Given the description of an element on the screen output the (x, y) to click on. 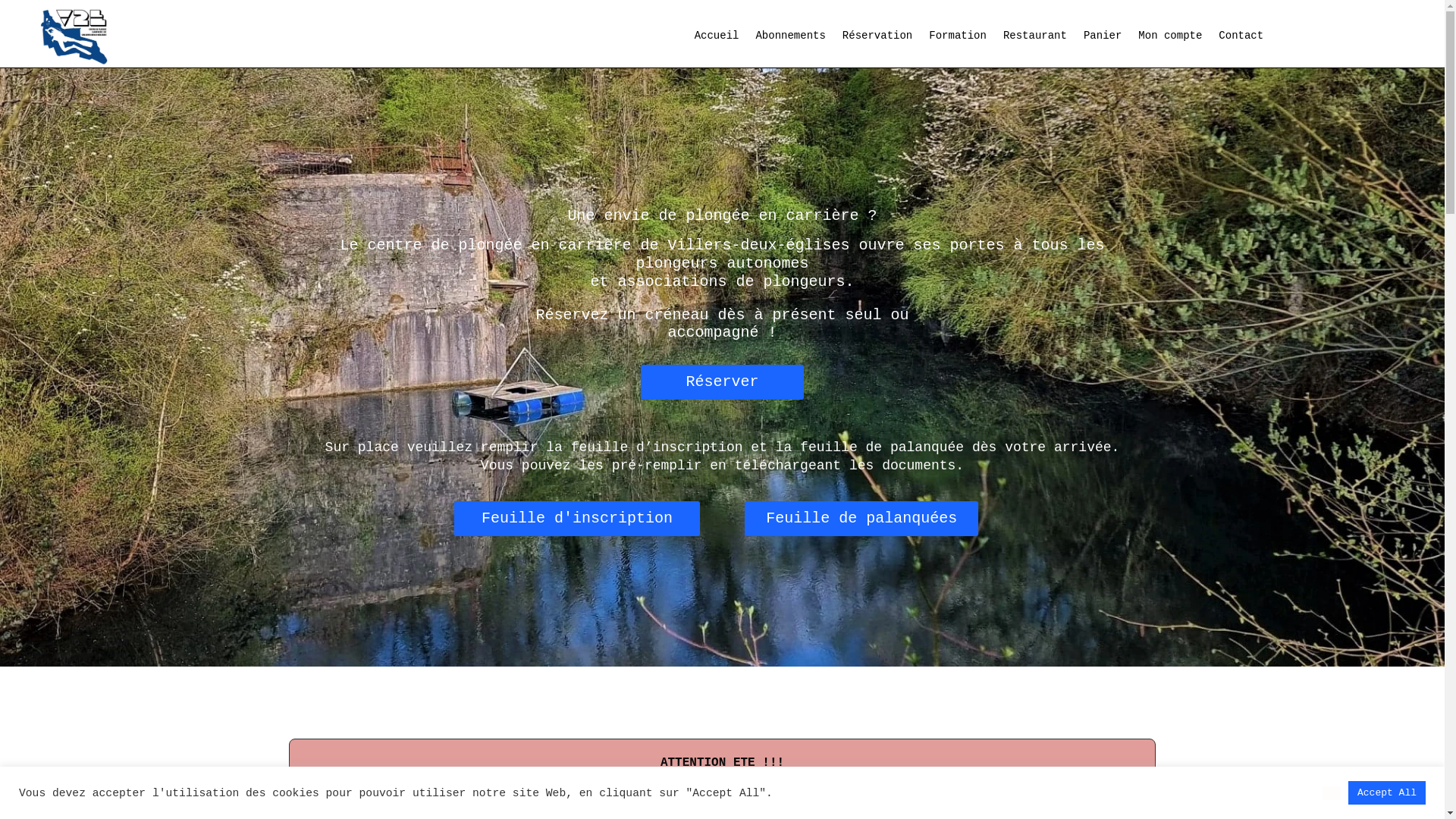
Contact Element type: text (1240, 38)
Mon compte Element type: text (1169, 38)
Feuille d'inscription Element type: text (576, 518)
Panier Element type: text (1102, 38)
Accept All Element type: text (1386, 792)
Abonnements Element type: text (790, 38)
Restaurant Element type: text (1034, 38)
Formation Element type: text (957, 38)
Accueil Element type: text (716, 38)
